Given the description of an element on the screen output the (x, y) to click on. 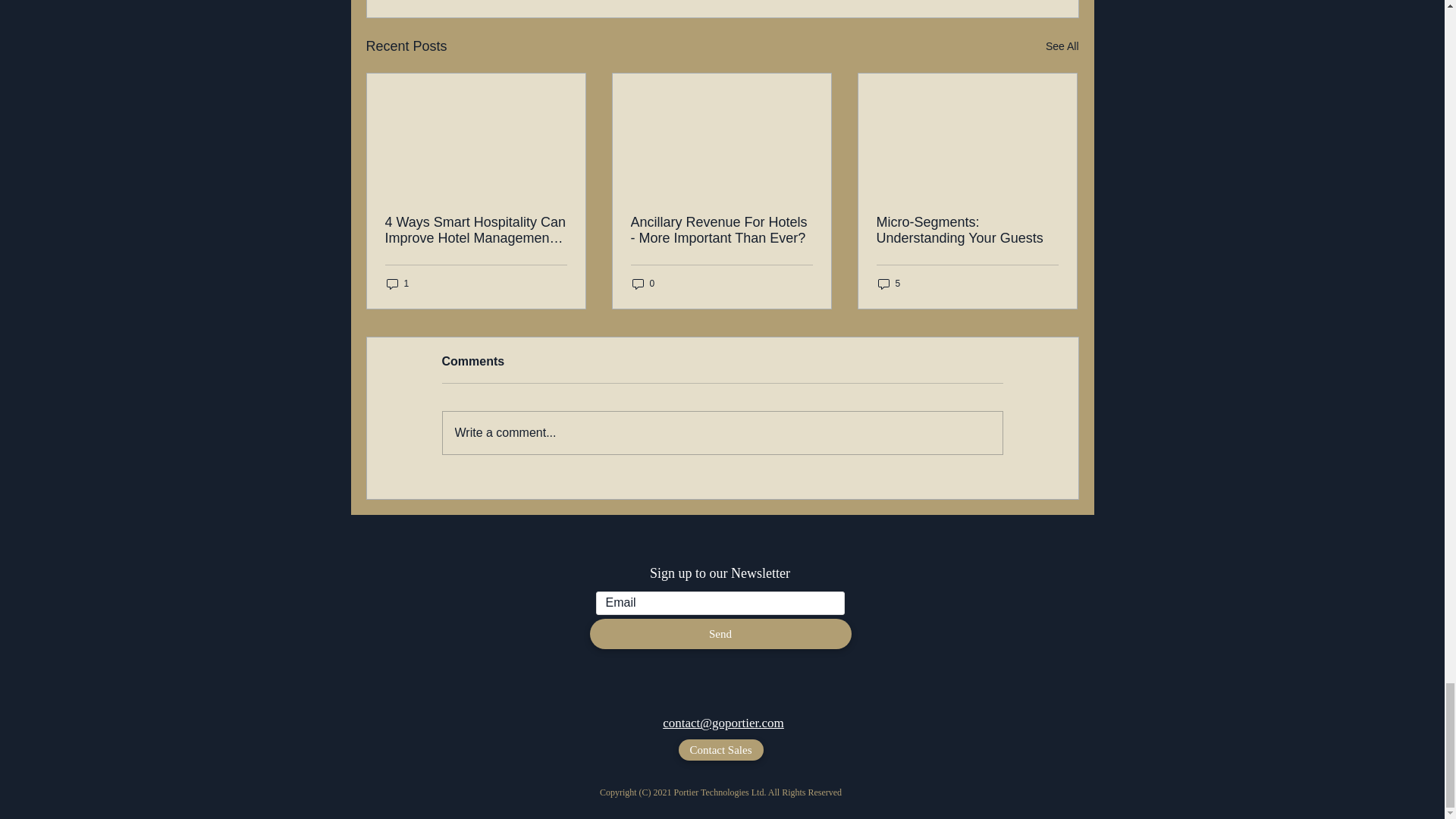
1 (397, 283)
0 (643, 283)
Ancillary Revenue For Hotels - More Important Than Ever? (721, 230)
See All (1061, 46)
